Given the description of an element on the screen output the (x, y) to click on. 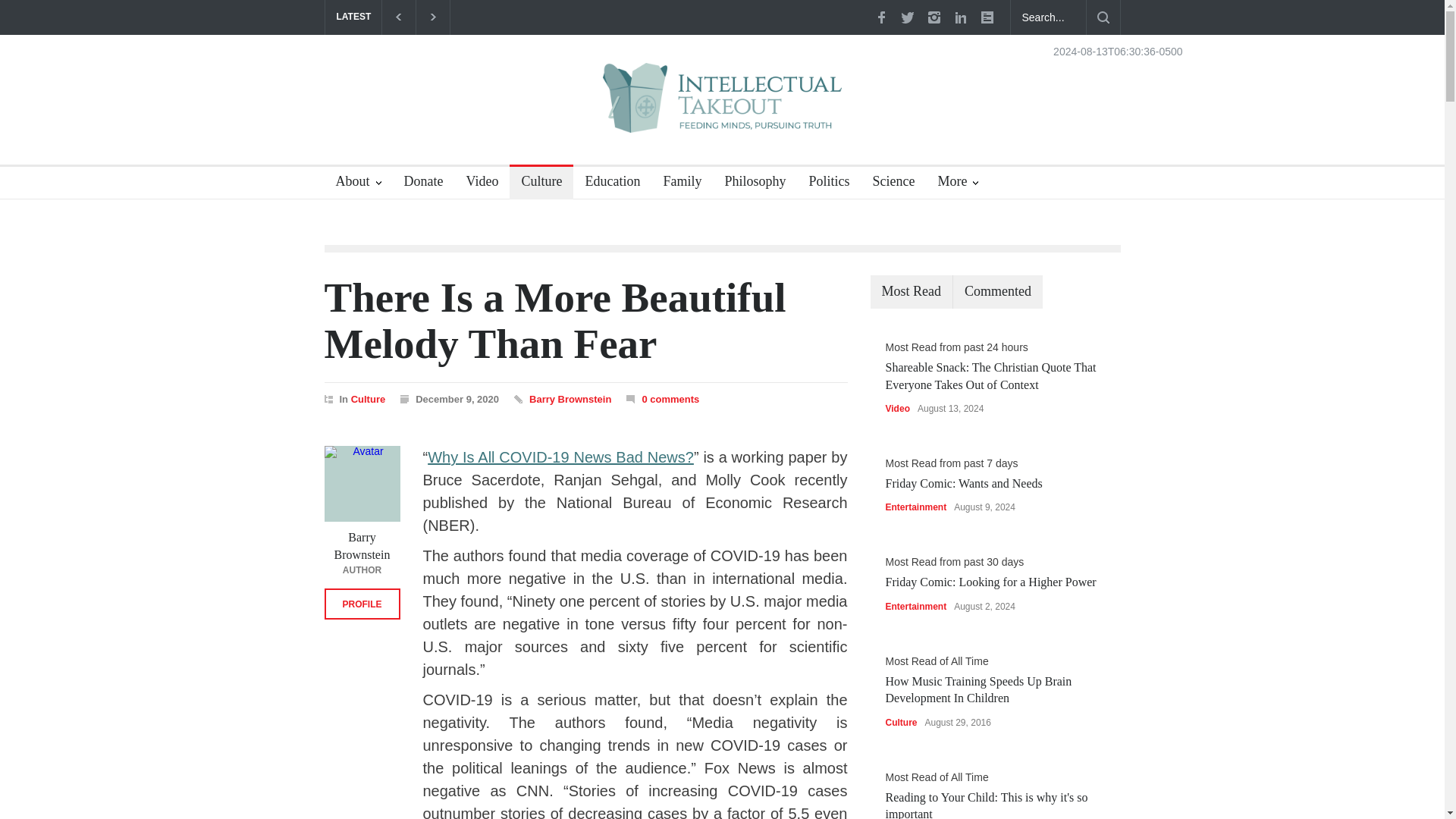
2024-08-13T06:30:36-0500 (1117, 50)
0 comments (670, 398)
Philosophy (749, 183)
Barry Brownstein (362, 483)
About (358, 183)
Education (606, 183)
Intellectual Takeout (721, 107)
